Given the description of an element on the screen output the (x, y) to click on. 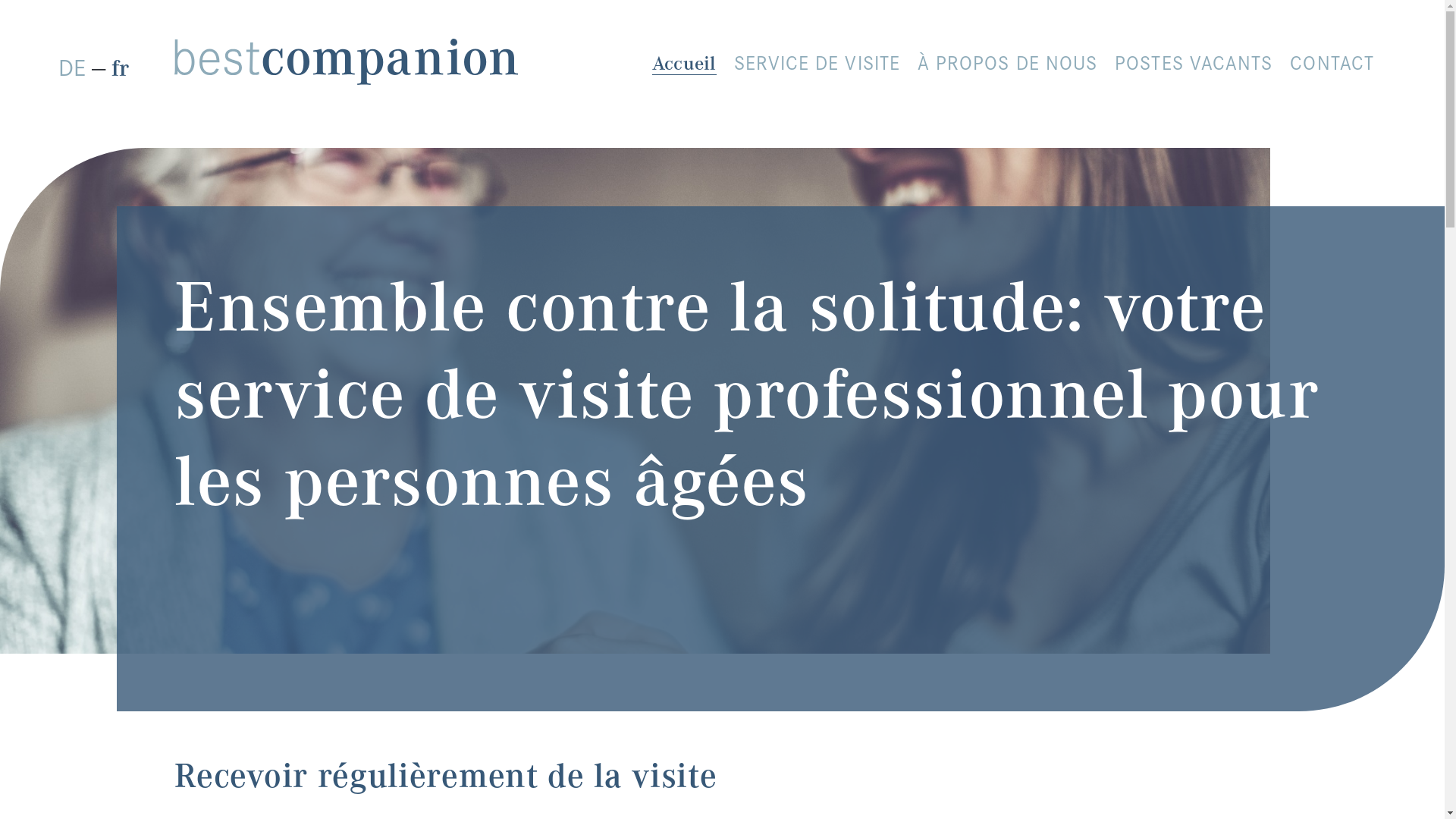
CONTACT Element type: text (1331, 63)
fr Element type: text (119, 63)
POSTES VACANTS Element type: text (1193, 63)
SERVICE DE VISITE Element type: text (817, 63)
Accueil Element type: text (683, 63)
DE Element type: text (71, 63)
